Given the description of an element on the screen output the (x, y) to click on. 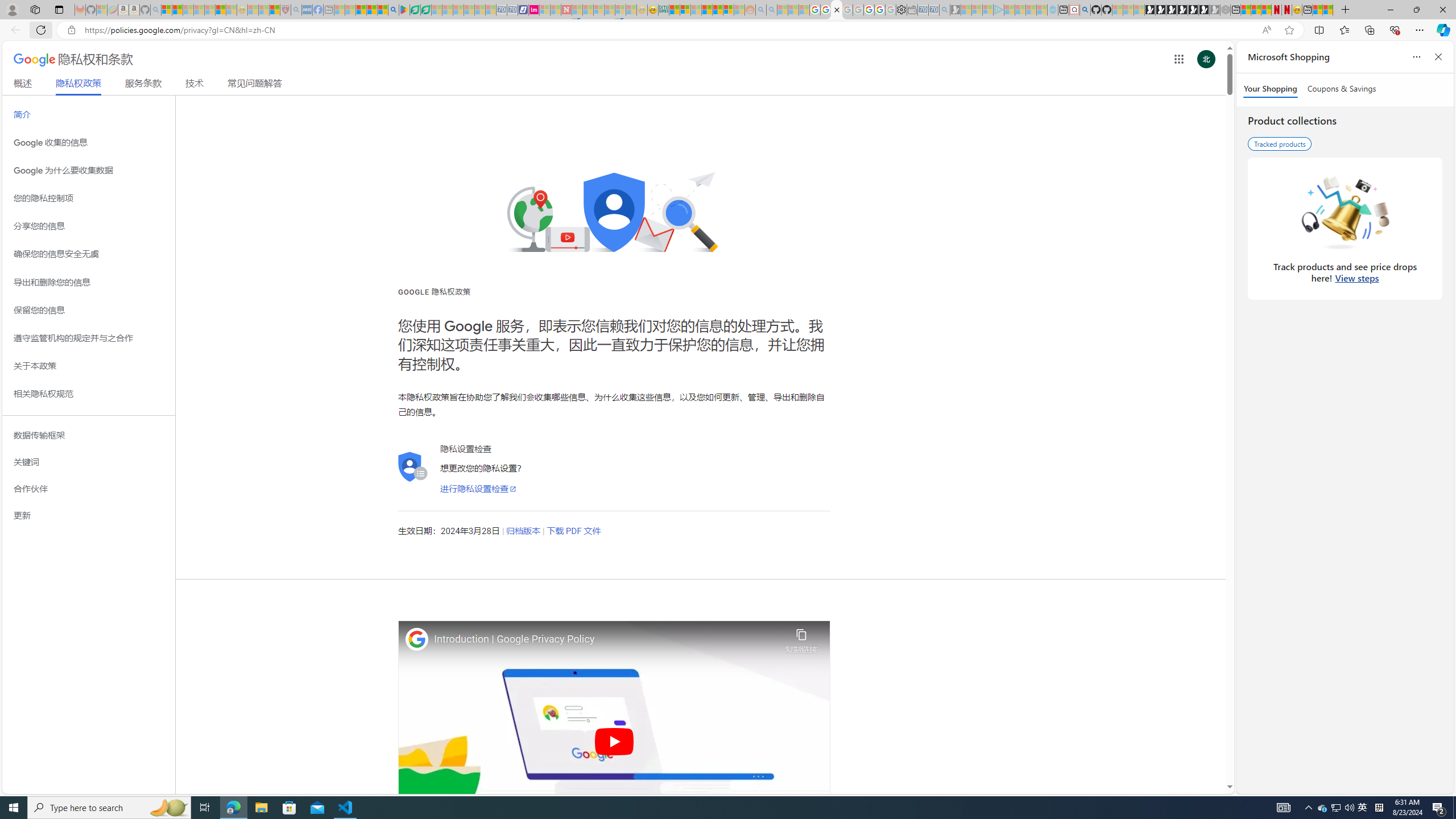
github - Search (1084, 9)
Terms of Use Agreement (414, 9)
Jobs - lastminute.com Investor Portal (534, 9)
